Given the description of an element on the screen output the (x, y) to click on. 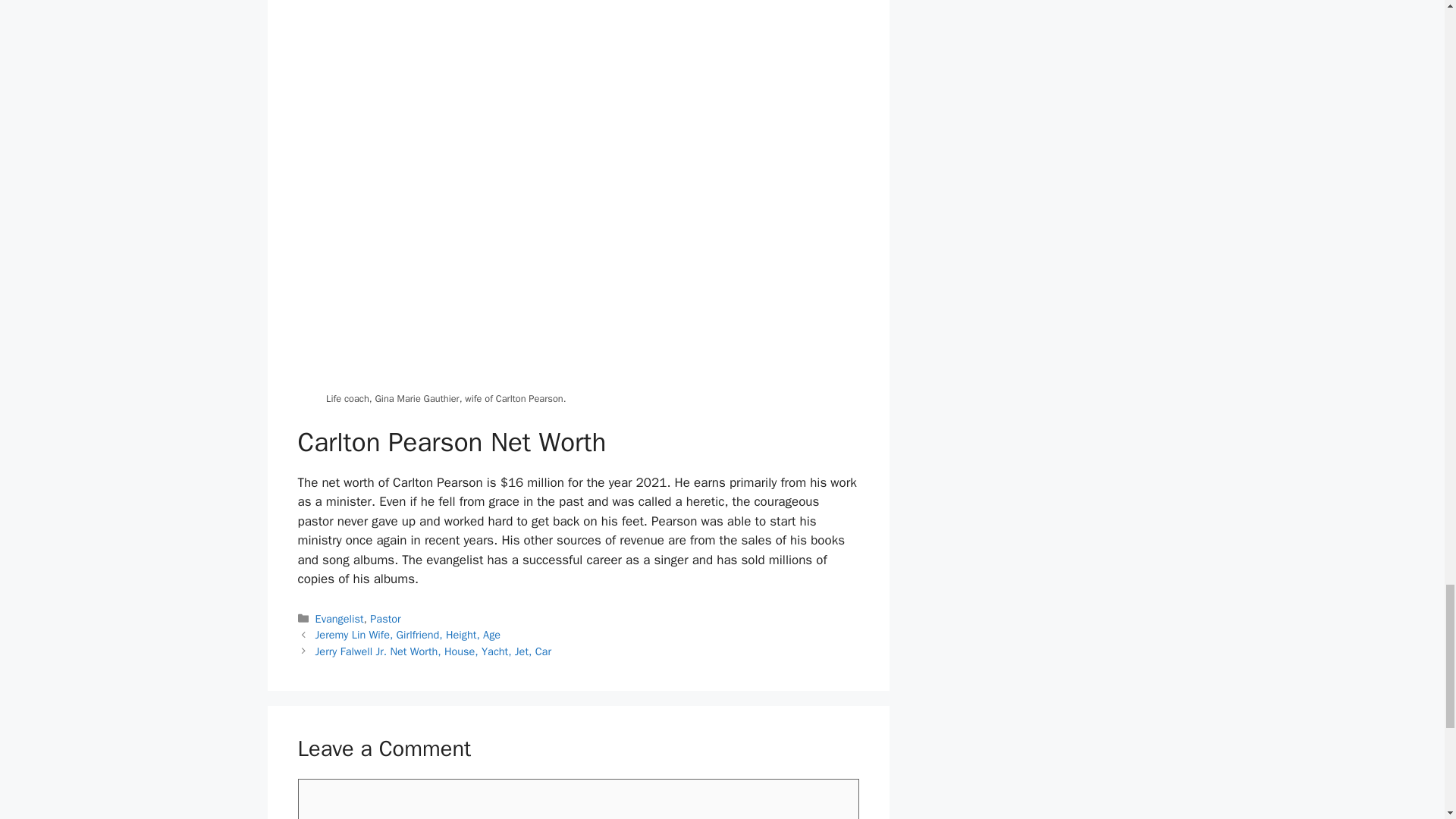
Evangelist (339, 618)
Pastor (384, 618)
Jerry Falwell Jr. Net Worth, House, Yacht, Jet, Car (433, 651)
Jeremy Lin Wife, Girlfriend, Height, Age (407, 634)
